Given the description of an element on the screen output the (x, y) to click on. 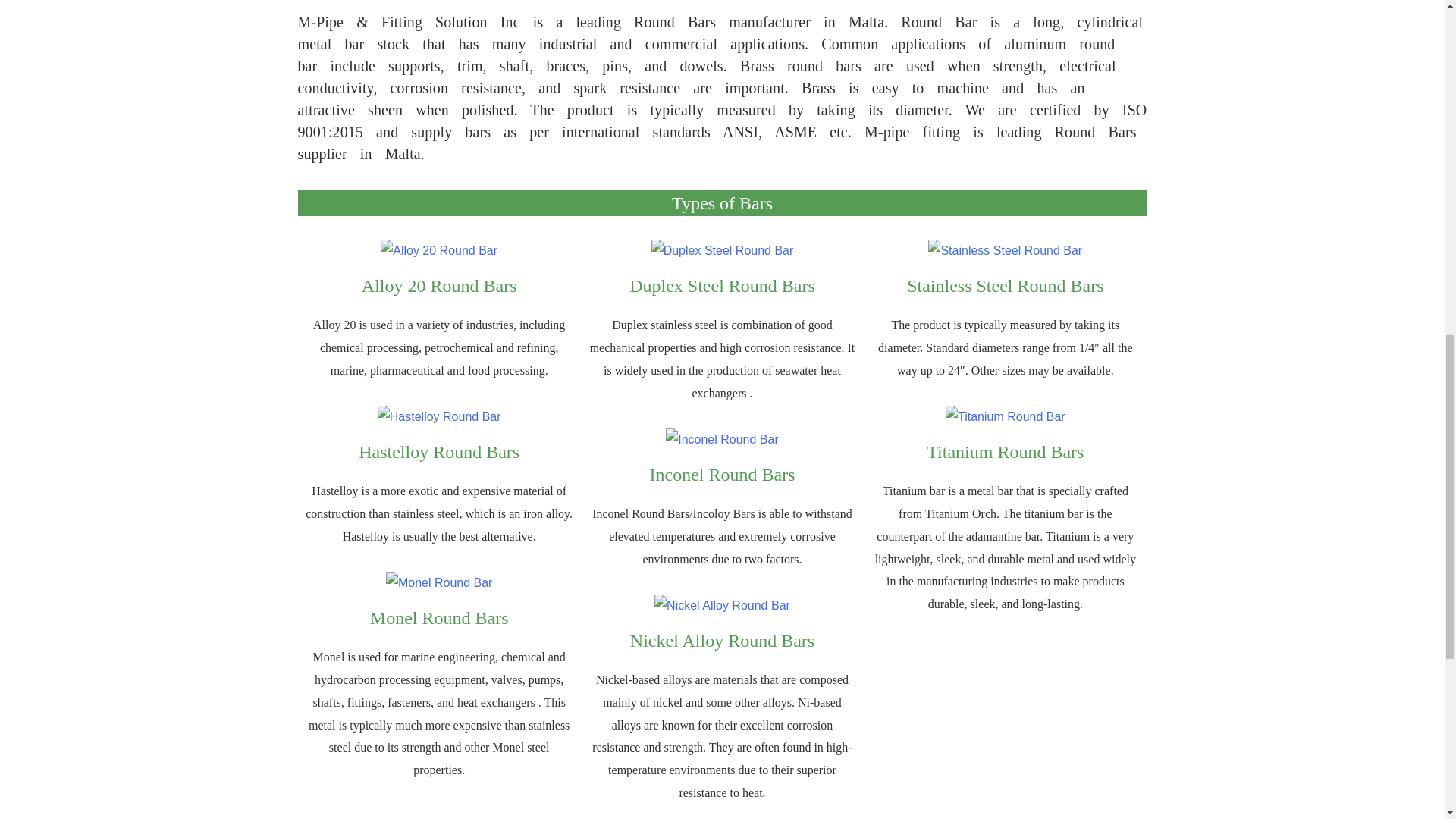
Alloy 20 Round Bars (438, 285)
Duplex Steel Round Bars (721, 285)
Inconel Round Bars (721, 474)
Nickel Alloy Round Bars (721, 640)
Hastelloy Round Bars (438, 451)
Types of Bars (722, 202)
Monel Round Bars (438, 618)
